Given the description of an element on the screen output the (x, y) to click on. 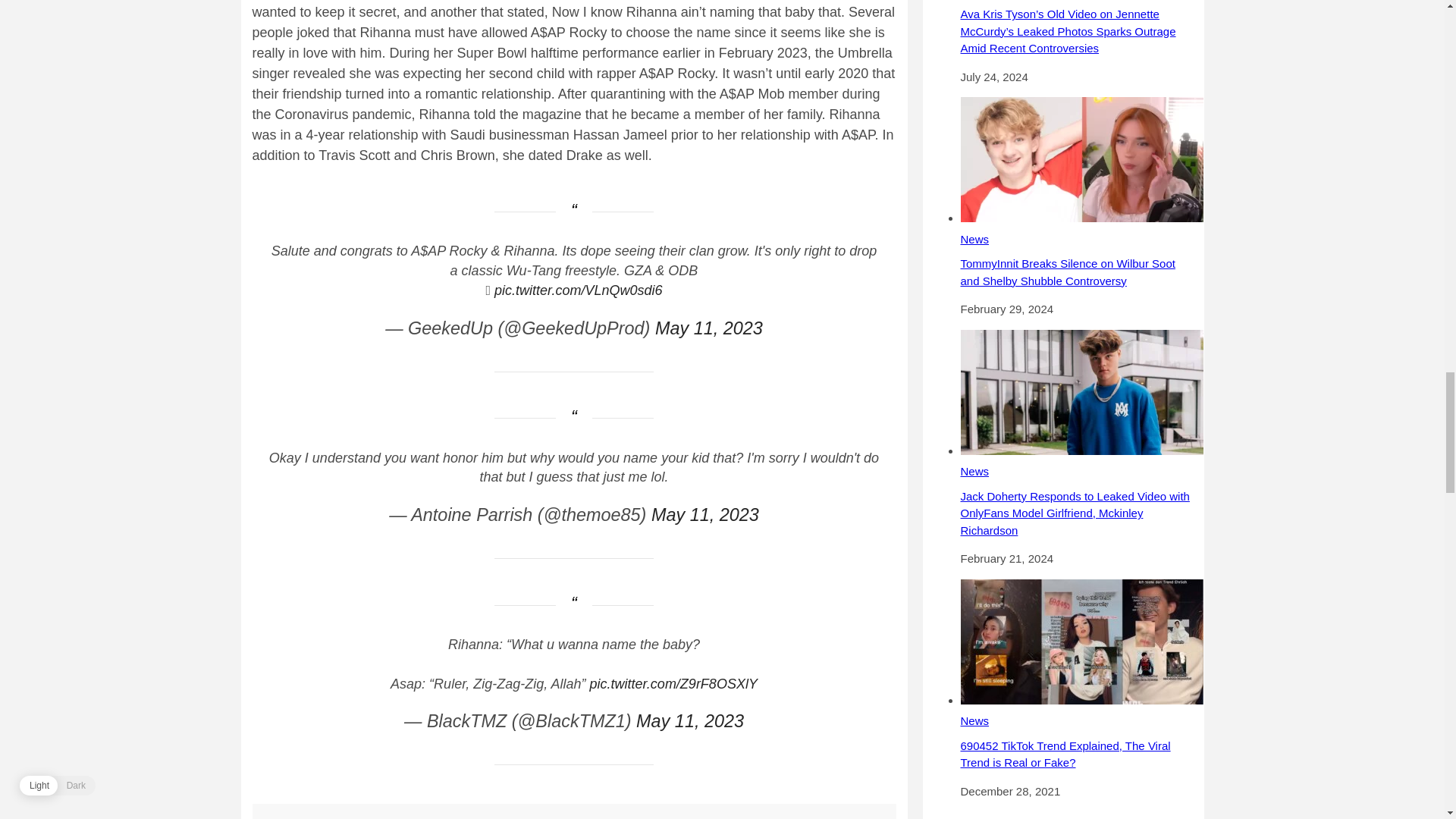
May 11, 2023 (708, 328)
